Given the description of an element on the screen output the (x, y) to click on. 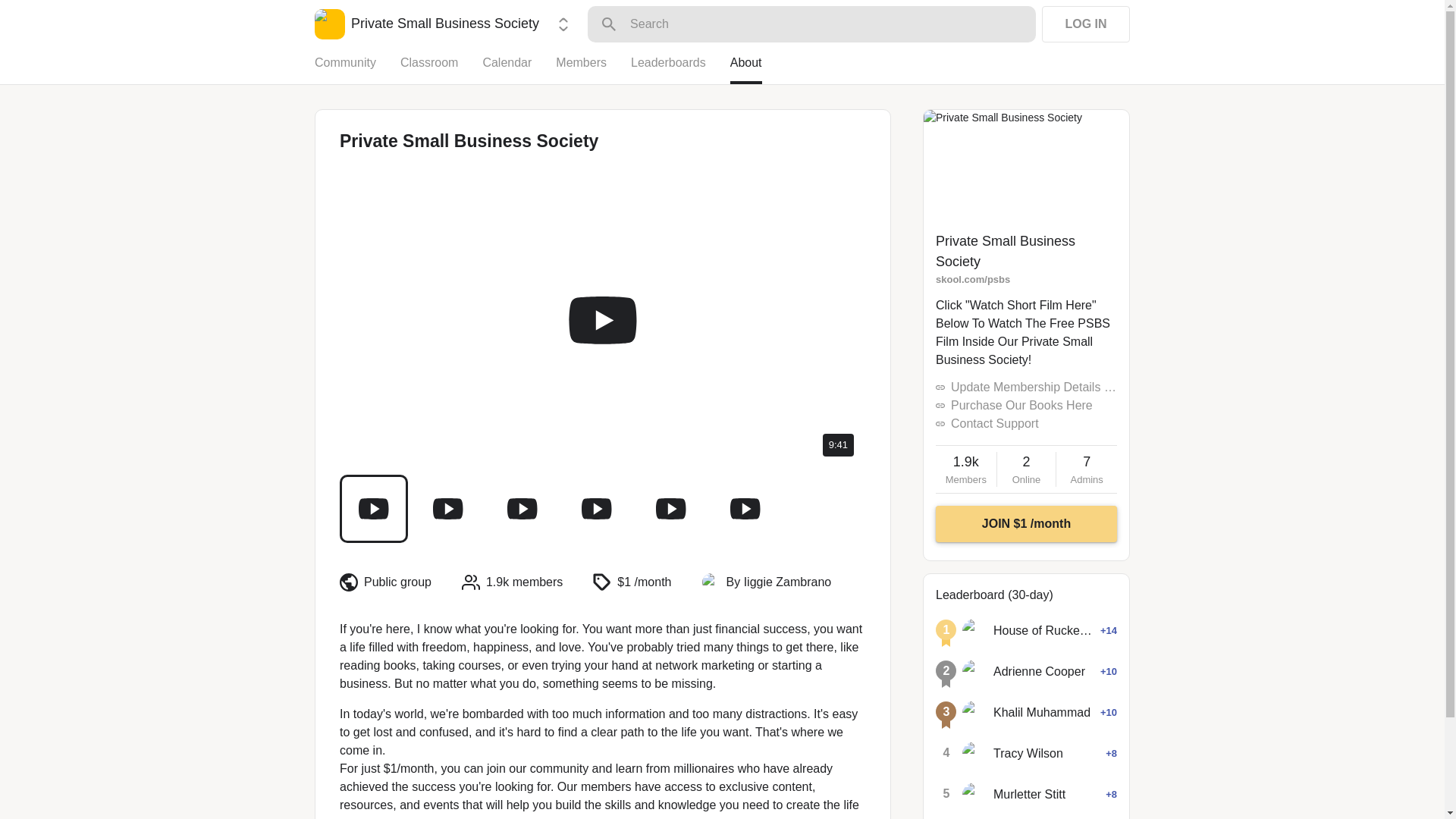
Murletter Stitt (1028, 794)
By Iiggie Zambrano (778, 582)
Purchase Our Books Here (1021, 404)
Murletter Stitt (974, 794)
Private Small Business Society (426, 23)
Iiggie Zambrano (710, 582)
Leaderboards (680, 69)
Khalil Muhammad (974, 712)
Community (357, 69)
Private Small Business Society (1005, 251)
House of Ruckerharris (1026, 469)
Adrienne Cooper (1043, 630)
Khalil Muhammad (974, 671)
About (1041, 712)
